Given the description of an element on the screen output the (x, y) to click on. 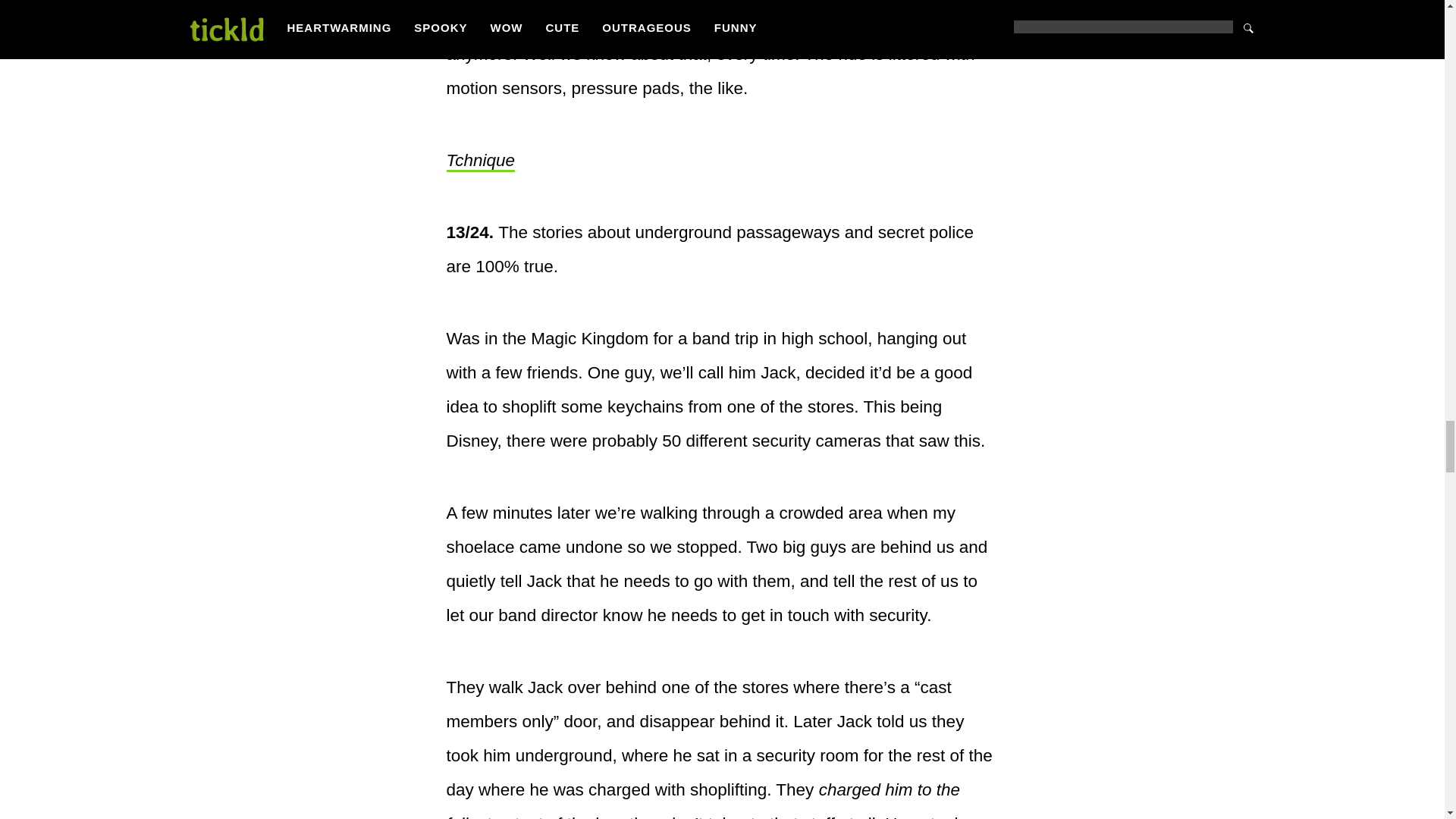
Tchnique (480, 160)
